Given the description of an element on the screen output the (x, y) to click on. 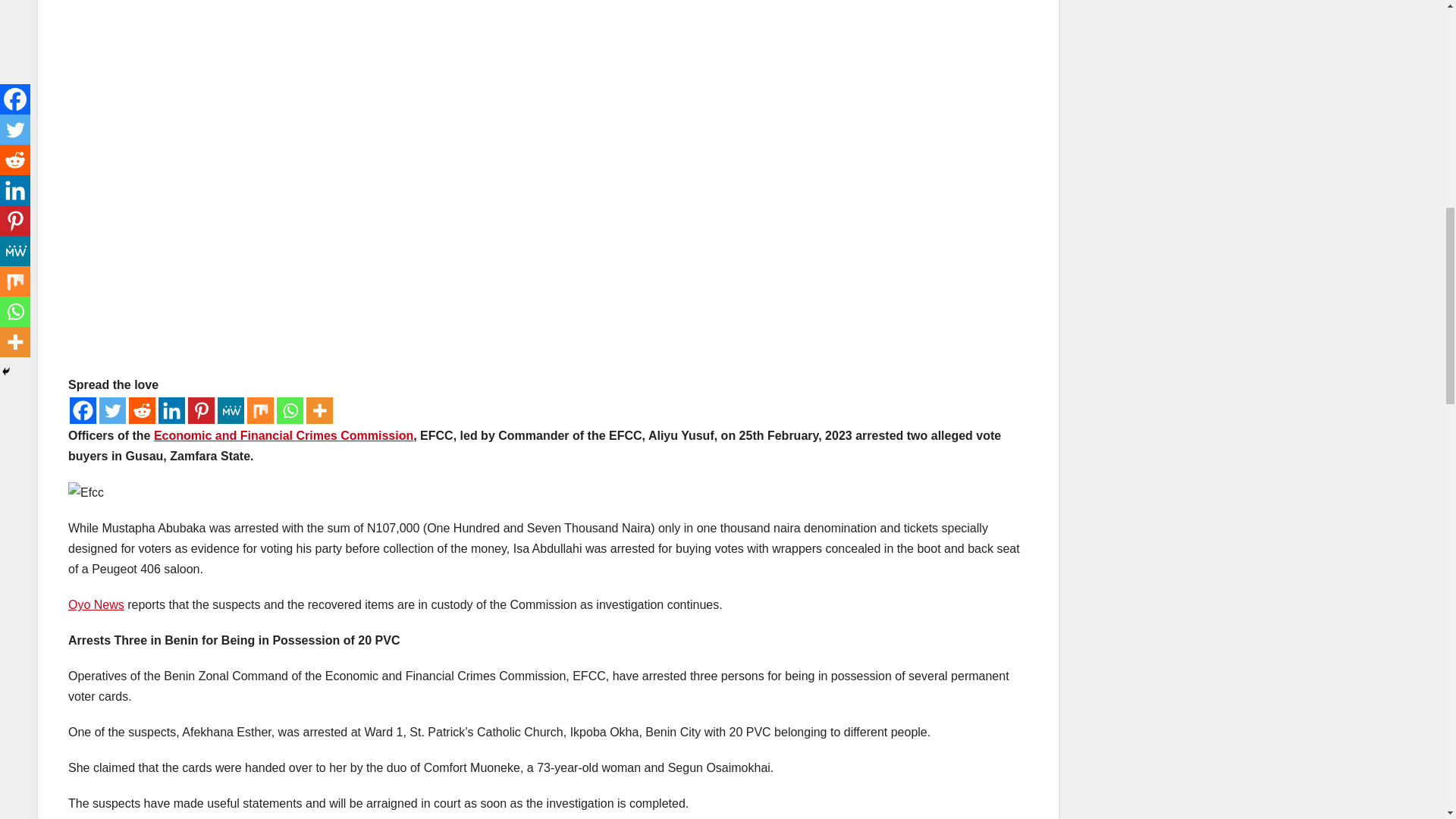
Oyo News (95, 604)
Reddit (142, 410)
Linkedin (171, 410)
MeWe (230, 410)
Mix (260, 410)
Facebook (82, 410)
Economic and Financial Crimes Commission (283, 435)
Twitter (112, 410)
Pinterest (200, 410)
